Given the description of an element on the screen output the (x, y) to click on. 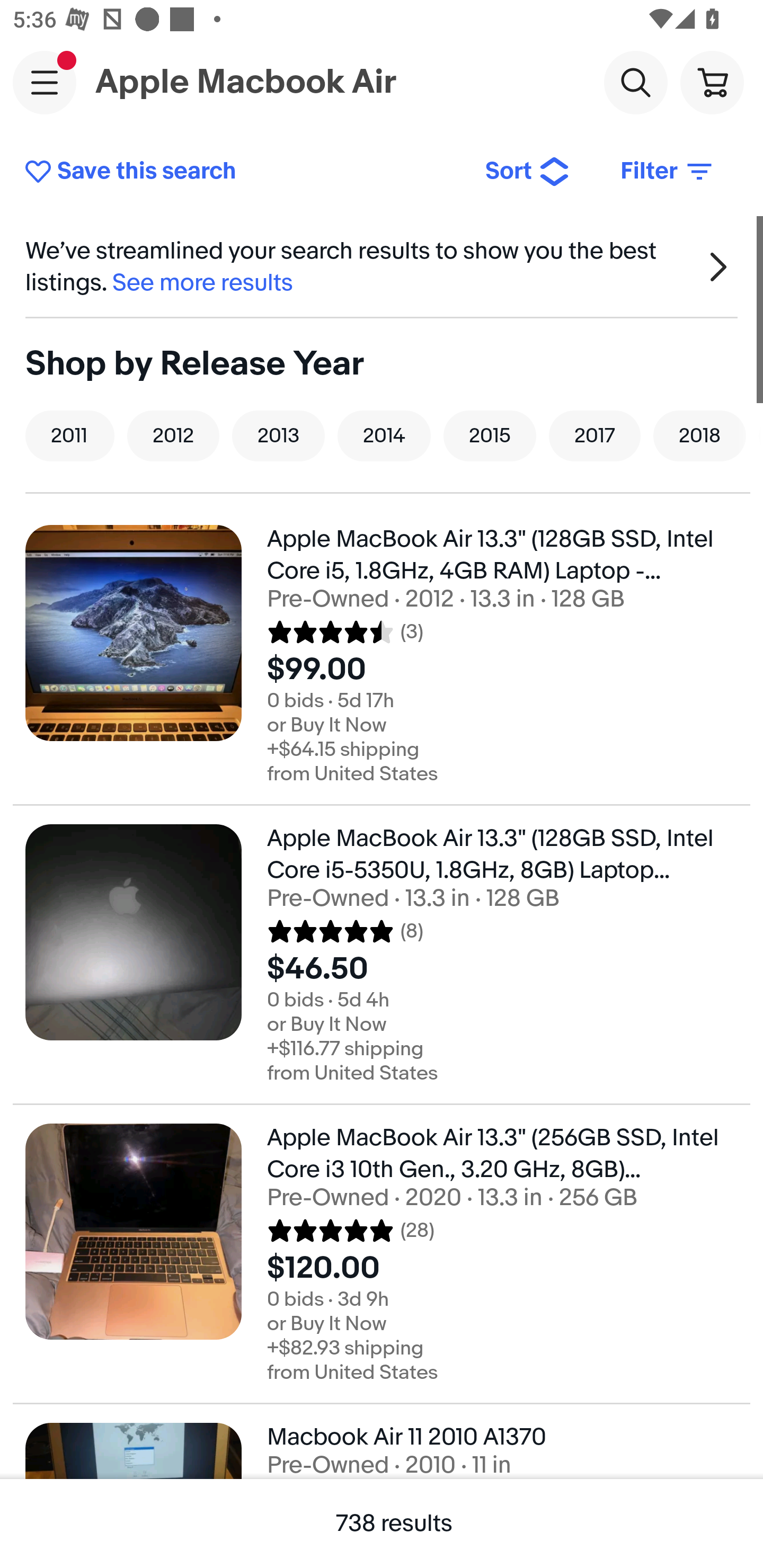
Main navigation, notification is pending, open (44, 82)
Search (635, 81)
Cart button shopping cart (711, 81)
Save this search (241, 171)
Sort (527, 171)
Filter (667, 171)
2011 2011, Release Year (69, 435)
2012 2012, Release Year (173, 435)
2013 2013, Release Year (278, 435)
2014 2014, Release Year (384, 435)
2015 2015, Release Year (489, 435)
2017 2017, Release Year (594, 435)
2018 2018, Release Year (699, 435)
